Given the description of an element on the screen output the (x, y) to click on. 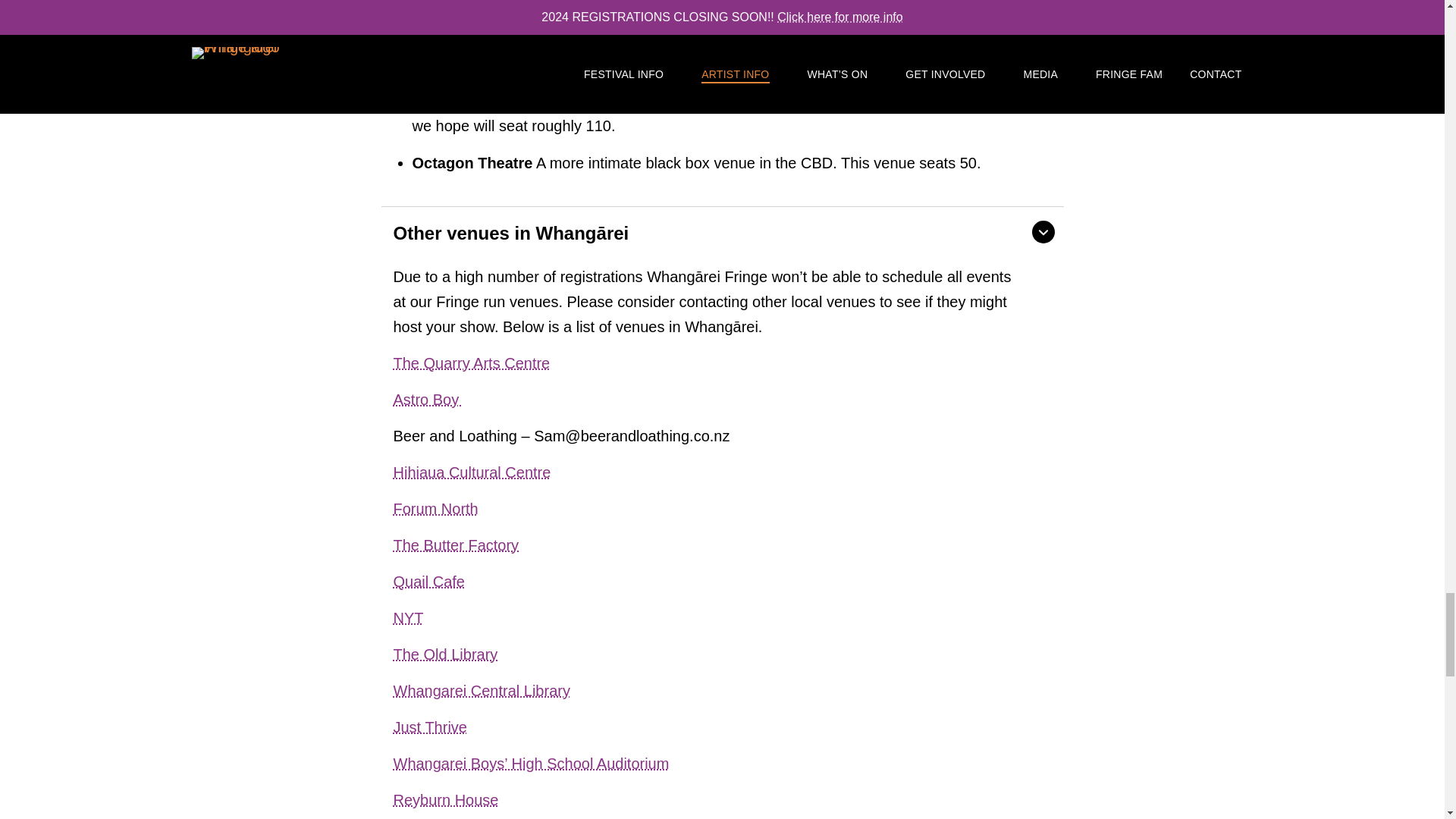
Astro Boy  (428, 399)
Quail Cafe (428, 581)
Reyburn House (445, 799)
Hihiaua Cultural Centre (471, 472)
Whangarei Central Library (481, 690)
Just Thrive (429, 727)
The Quarry Arts Centre (471, 362)
The Old Library (445, 654)
Forum North (435, 508)
The Butter Factory (455, 545)
NYT (408, 618)
